Given the description of an element on the screen output the (x, y) to click on. 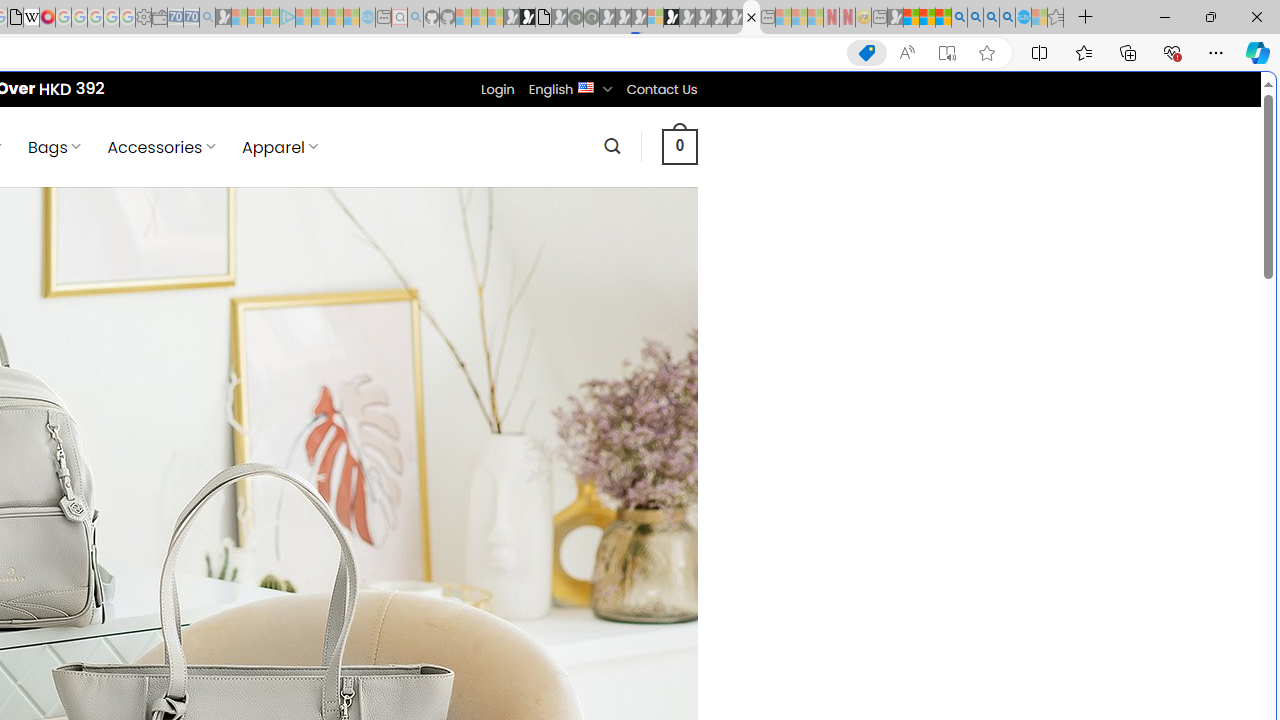
Login (497, 89)
